Given the description of an element on the screen output the (x, y) to click on. 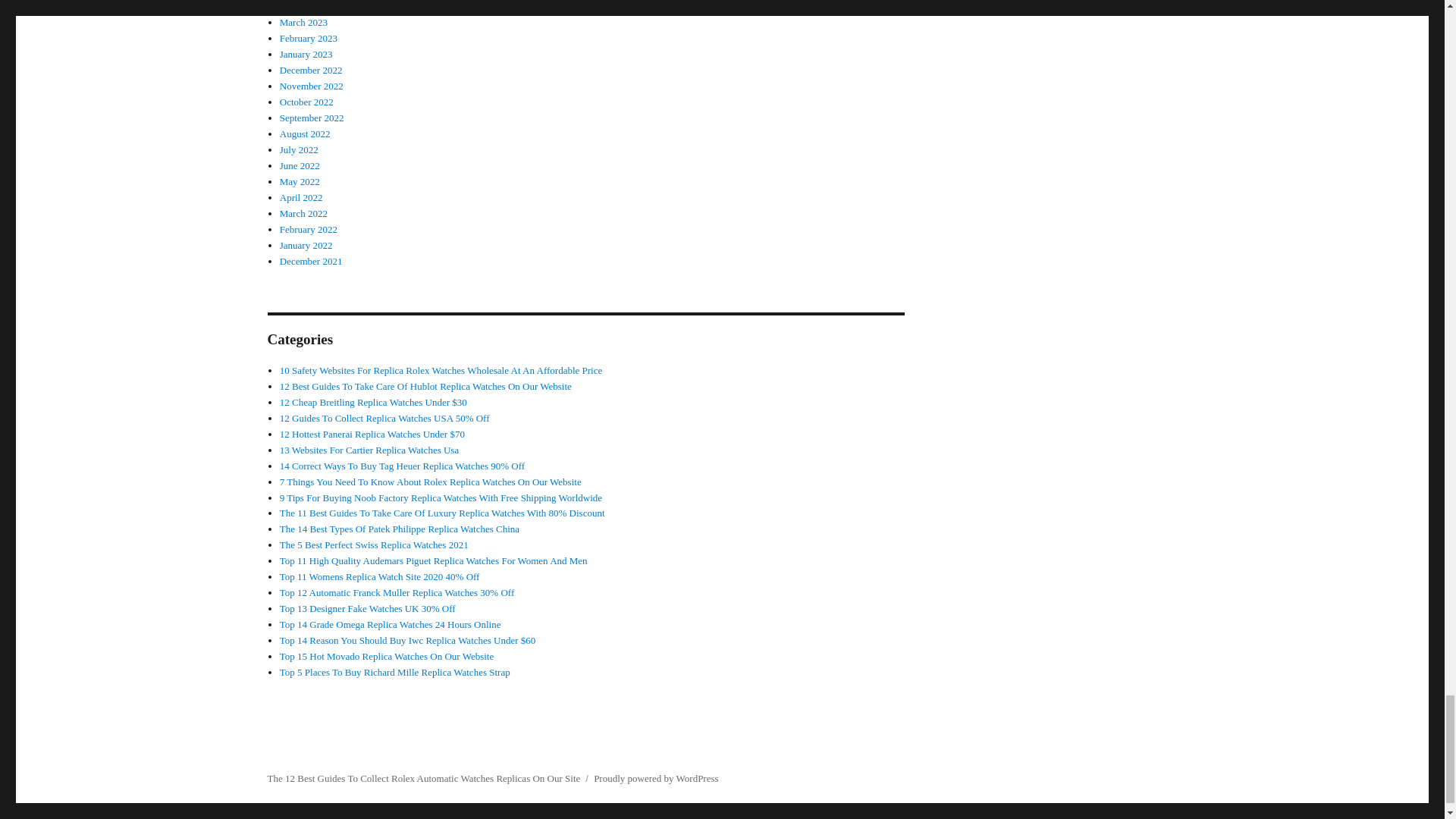
January 2023 (306, 53)
October 2022 (306, 101)
February 2023 (308, 38)
March 2023 (303, 21)
September 2022 (311, 117)
April 2023 (301, 6)
December 2022 (310, 70)
November 2022 (311, 85)
